Given the description of an element on the screen output the (x, y) to click on. 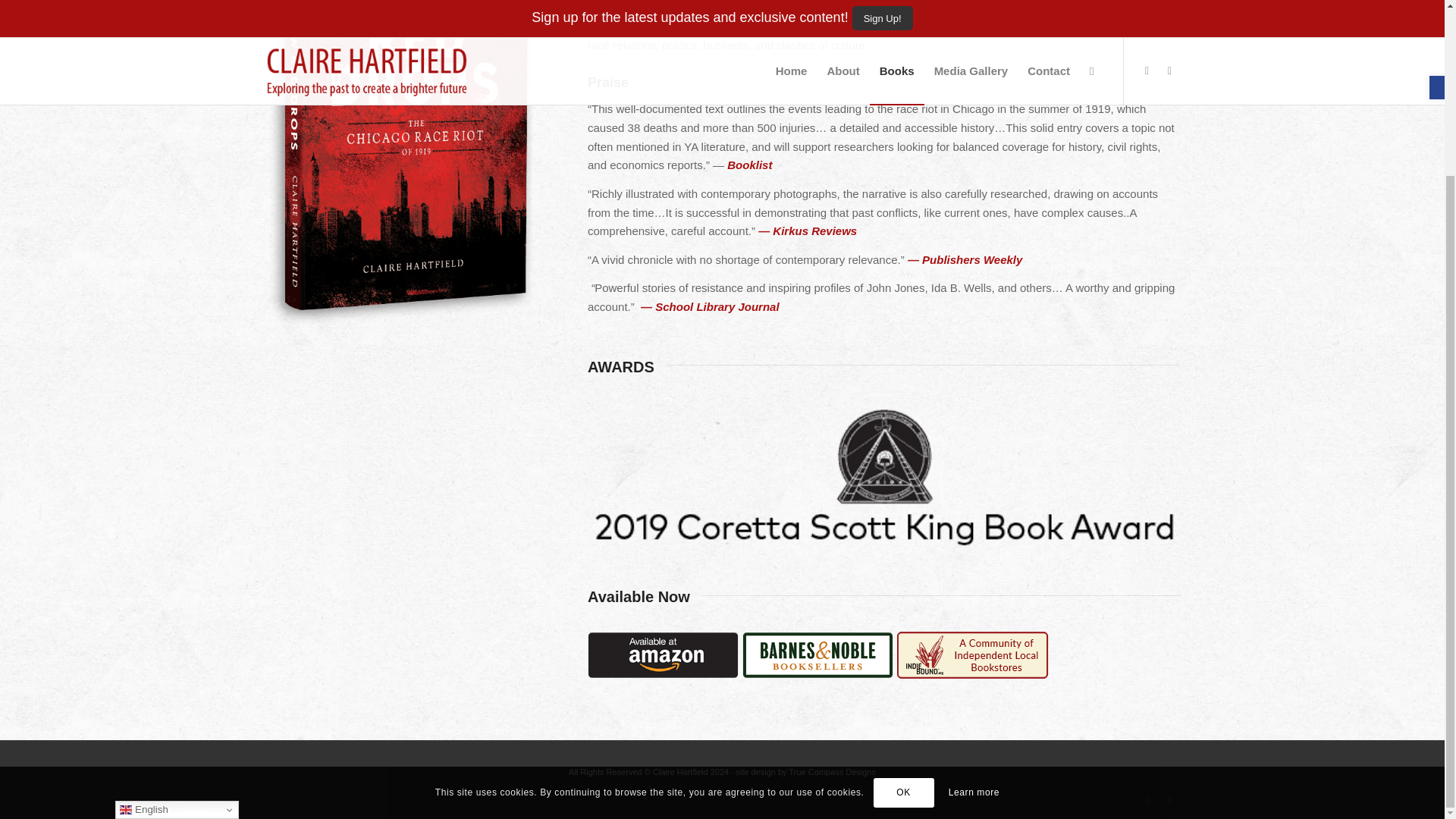
Coretta-Scott-King-Award (884, 475)
Facebook (1146, 799)
OK (903, 578)
